Given the description of an element on the screen output the (x, y) to click on. 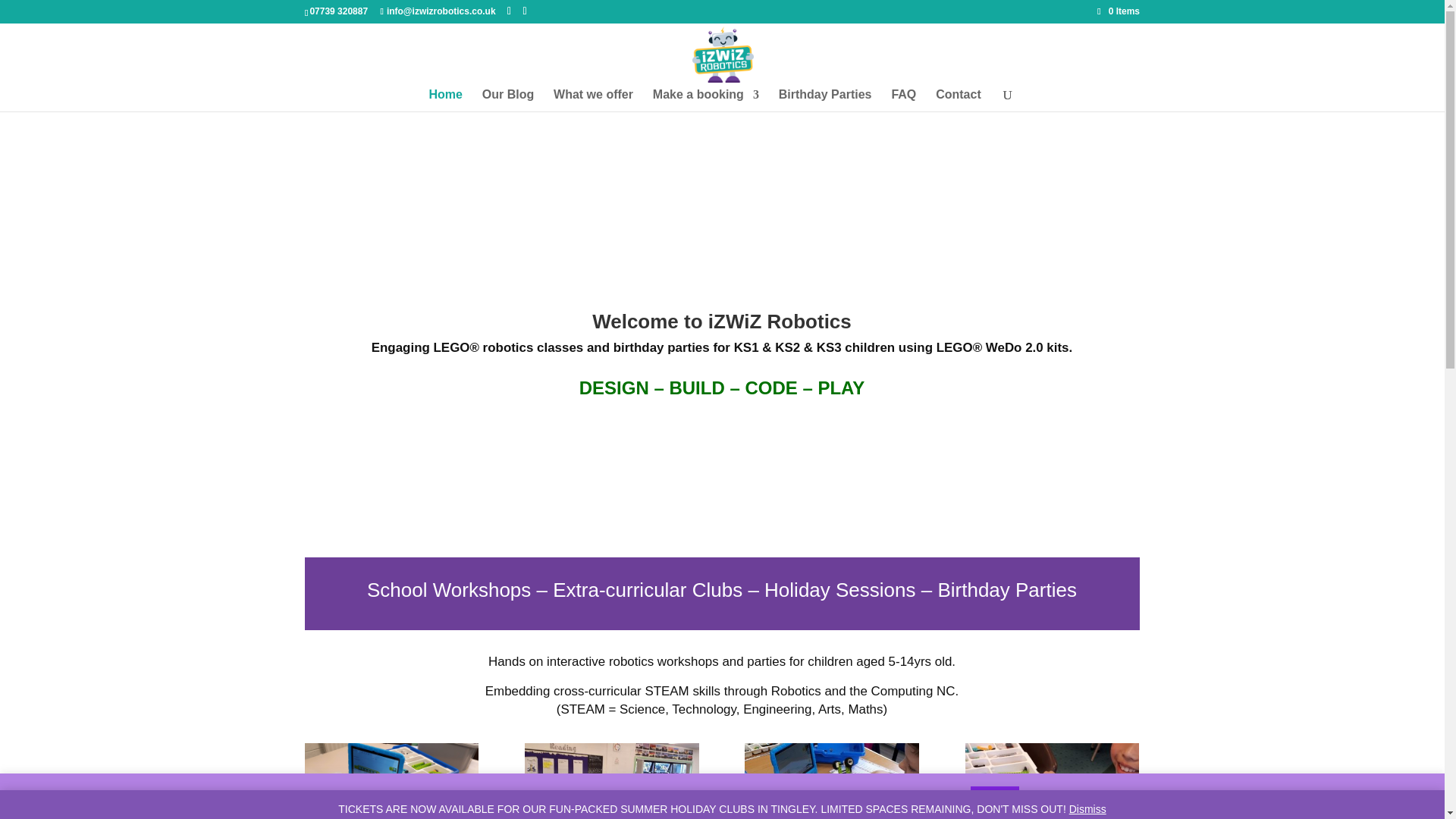
What we offer (593, 100)
07739 320887 (338, 10)
Home (444, 100)
Contact (958, 100)
Our Blog (507, 100)
Make a booking (705, 100)
FAQ (903, 100)
Birthday Parties (825, 100)
0 Items (1118, 10)
